Given the description of an element on the screen output the (x, y) to click on. 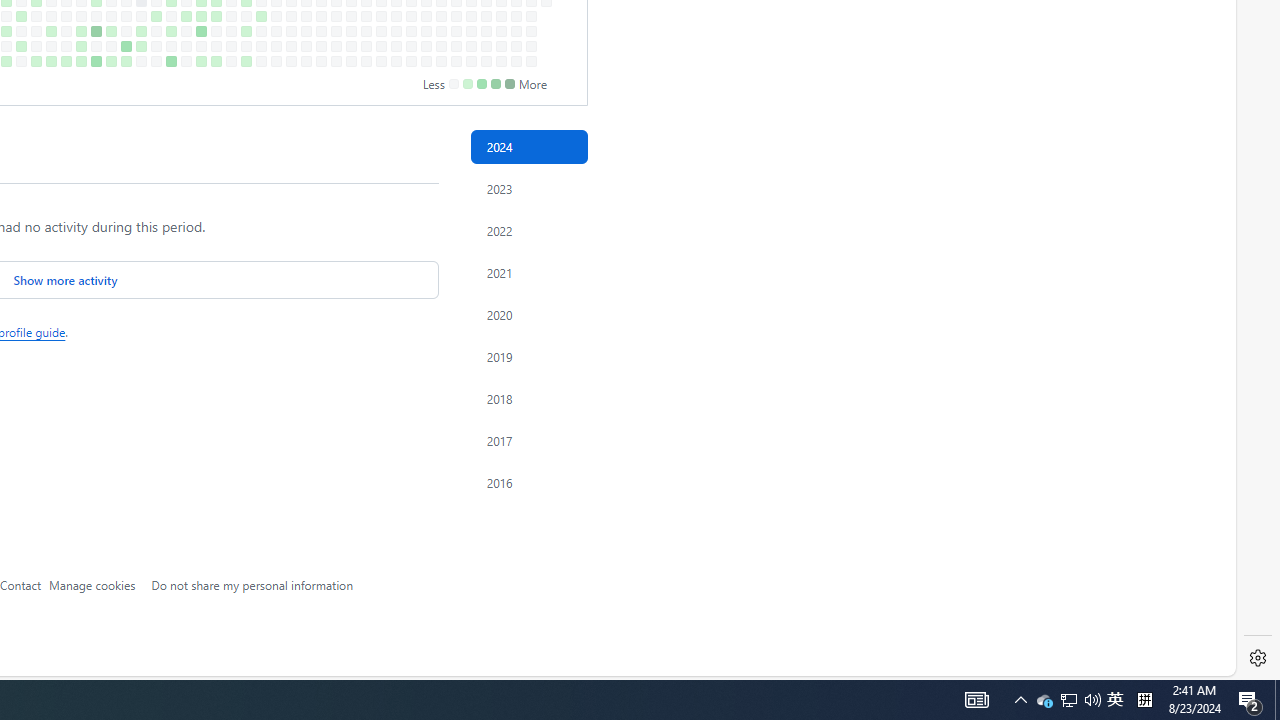
2018 (528, 399)
1 contribution on May 25th. (66, 61)
Contribution activity in 2021 (528, 273)
1 contribution on July 27th. (201, 61)
Contribution activity in 2016 (528, 482)
No contributions on September 14th. (306, 61)
1 contribution on June 1st. (81, 61)
6 contributions on June 8th. (96, 61)
Contribution activity in 2020 (528, 314)
No contributions on November 2nd. (411, 61)
No contributions on December 21st. (516, 61)
1 contribution on May 11th. (36, 61)
Do not share my personal information (252, 584)
2016 (528, 482)
No contributions on August 31st. (276, 61)
